Given the description of an element on the screen output the (x, y) to click on. 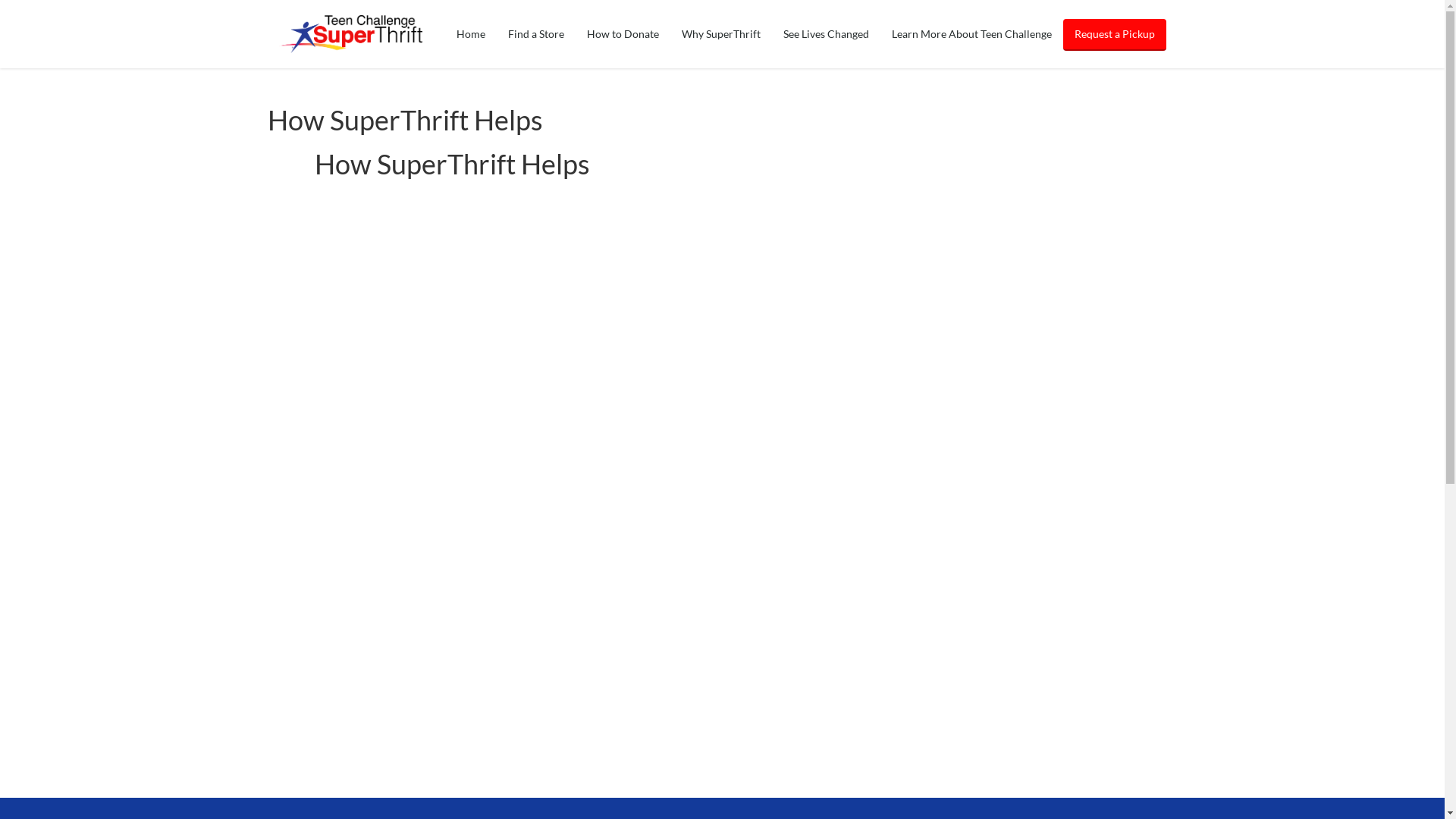
Home Element type: text (469, 34)
How to Donate Element type: text (621, 34)
See Lives Changed Element type: text (825, 34)
How SuperThrift Helps Element type: text (451, 163)
Find a Store Element type: text (534, 34)
Why SuperThrift Element type: text (720, 34)
How SuperThrift Helps Element type: text (404, 119)
Learn More About Teen Challenge Element type: text (970, 34)
Request a Pickup Element type: text (1114, 34)
